Given the description of an element on the screen output the (x, y) to click on. 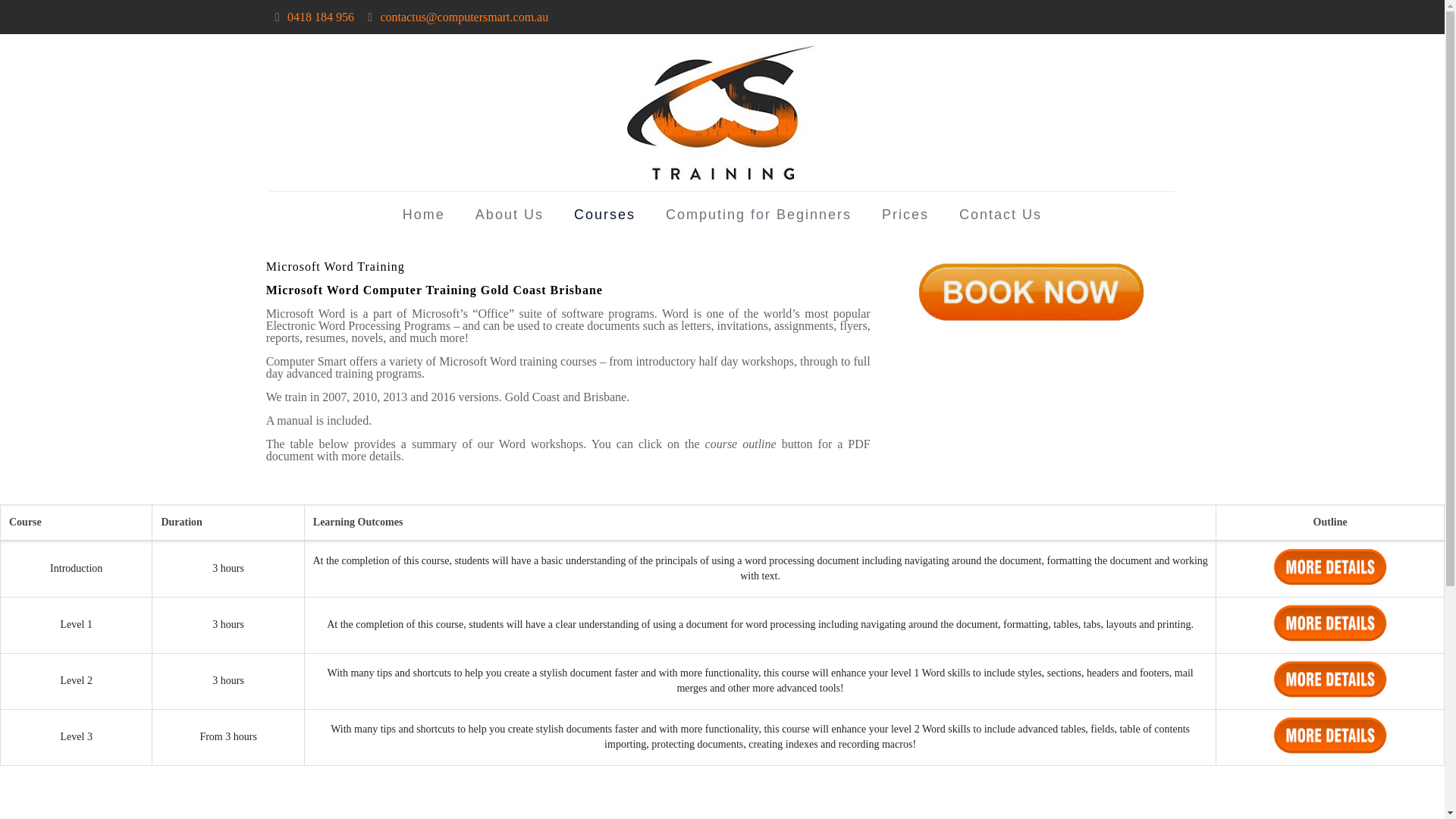
Book-now-orange-button (1030, 292)
course-outline (1329, 679)
0418 184 956 (319, 16)
Prices (904, 214)
course-outline (1329, 566)
Home (423, 214)
Computer Smart Training (721, 112)
Computing for Beginners (758, 214)
About Us (509, 214)
course-outline (1329, 734)
Contact Us (1000, 214)
Courses (604, 214)
course-outline (1329, 622)
